Given the description of an element on the screen output the (x, y) to click on. 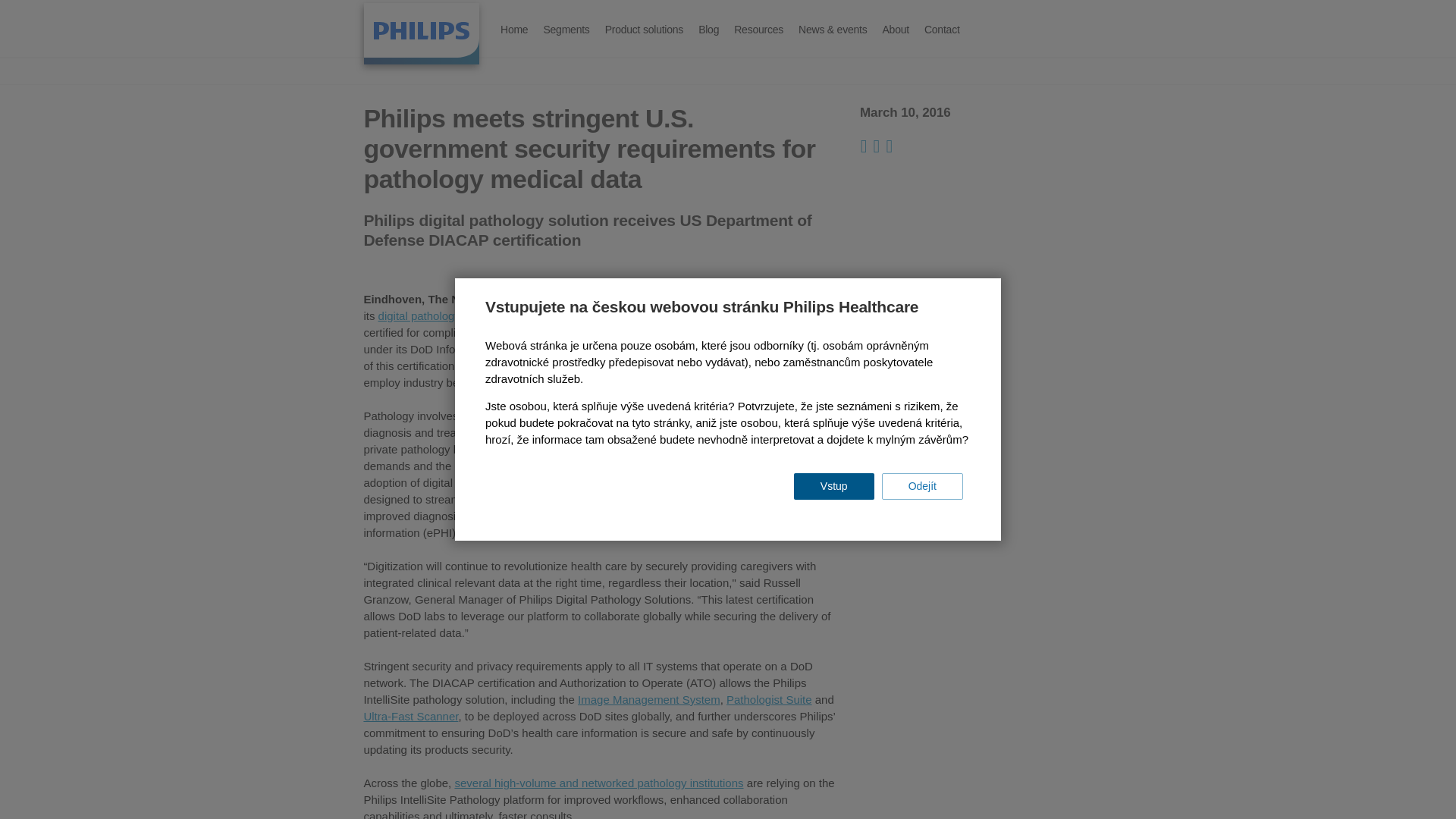
Royal Philips (562, 298)
digital pathology solutions (443, 315)
several high-volume and networked pathology institutions (598, 782)
Image Management System (649, 698)
Contact (942, 29)
Ultra-Fast Scanner (410, 716)
Pathologist Suite (769, 698)
Home (421, 33)
Vstup (834, 486)
Resources (758, 29)
Segments (565, 29)
Product solutions (643, 29)
